Given the description of an element on the screen output the (x, y) to click on. 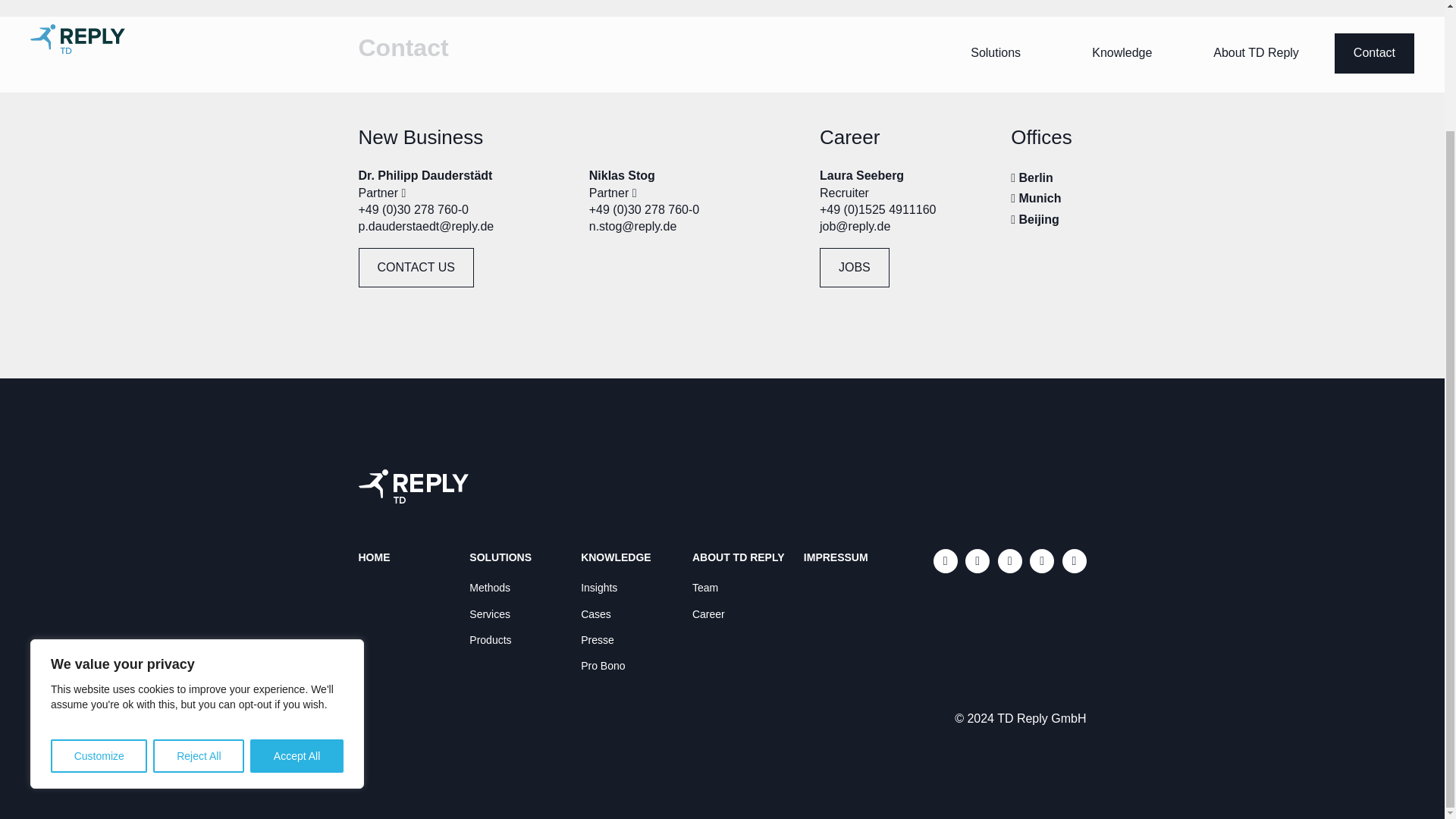
Reject All (198, 610)
Customize (98, 610)
Accept All (296, 610)
